Given the description of an element on the screen output the (x, y) to click on. 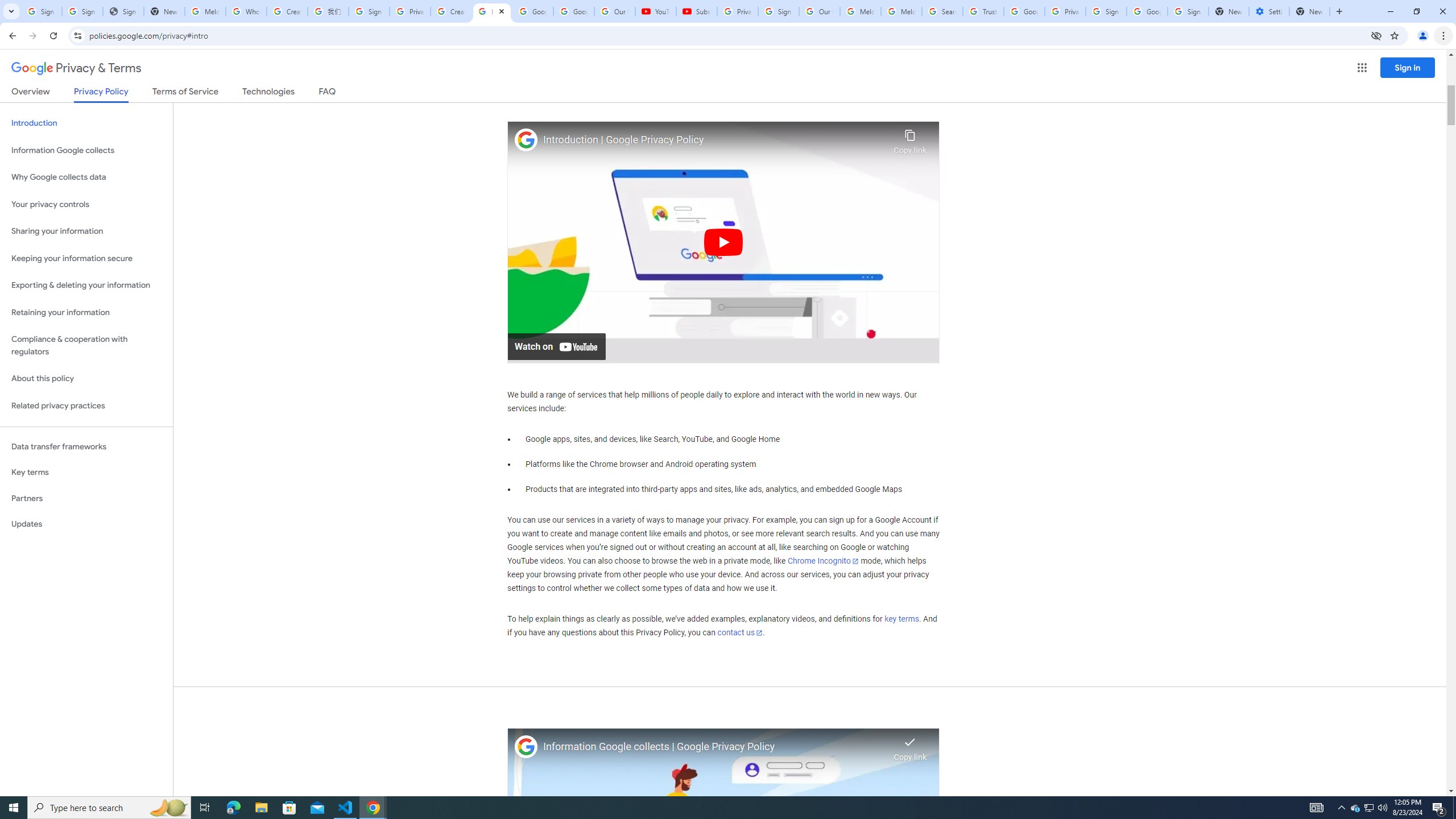
Why Google collects data (86, 176)
Subscriptions - YouTube (696, 11)
Keeping your information secure (86, 258)
Google Cybersecurity Innovations - Google Safety Center (1146, 11)
Watch on YouTube (556, 346)
Chrome Incognito (823, 561)
Sign in - Google Accounts (368, 11)
Retaining your information (86, 312)
